Given the description of an element on the screen output the (x, y) to click on. 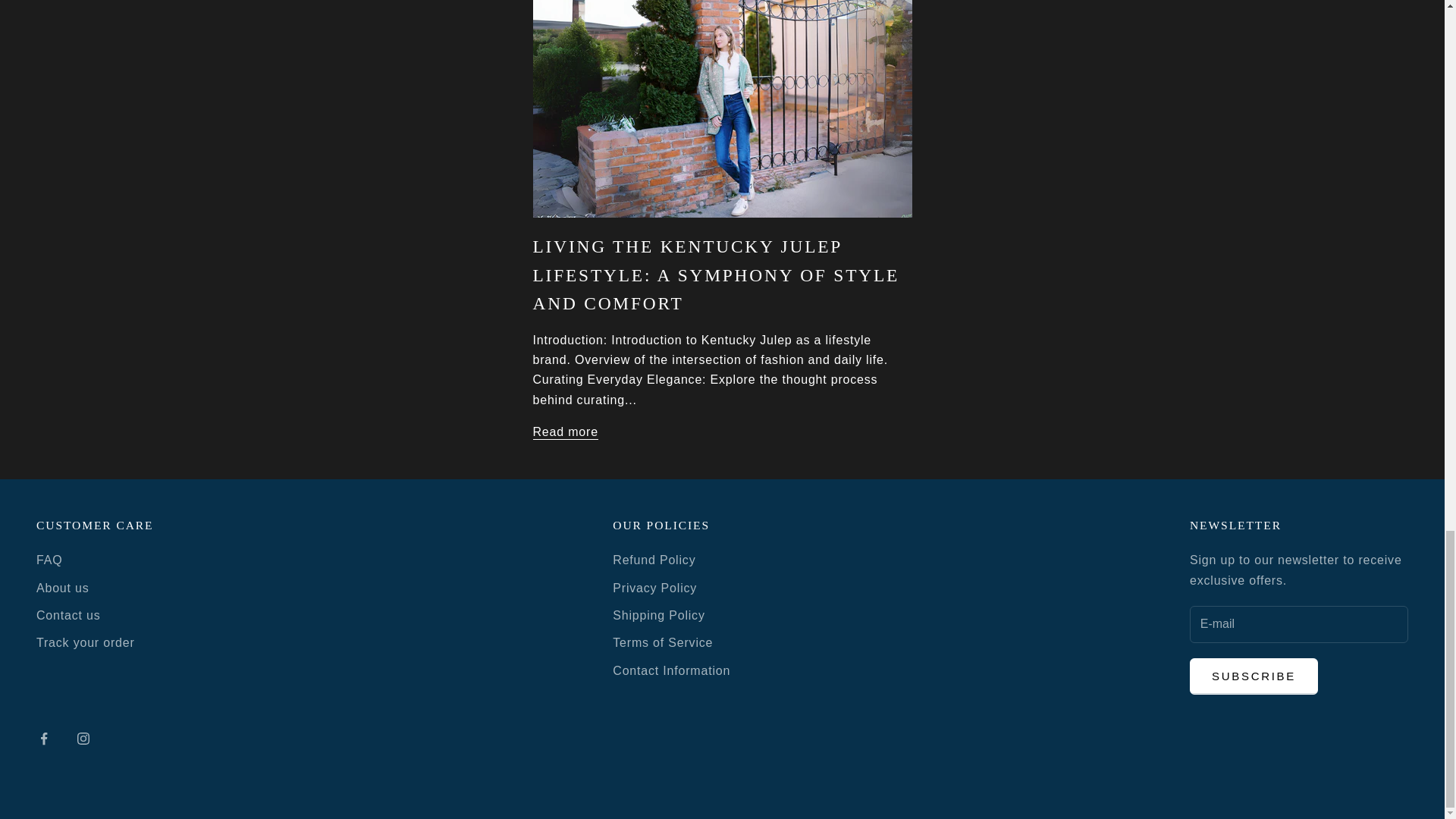
Contact us (68, 615)
FAQ (49, 559)
Read more (564, 432)
About us (62, 587)
Track your order (85, 642)
